Given the description of an element on the screen output the (x, y) to click on. 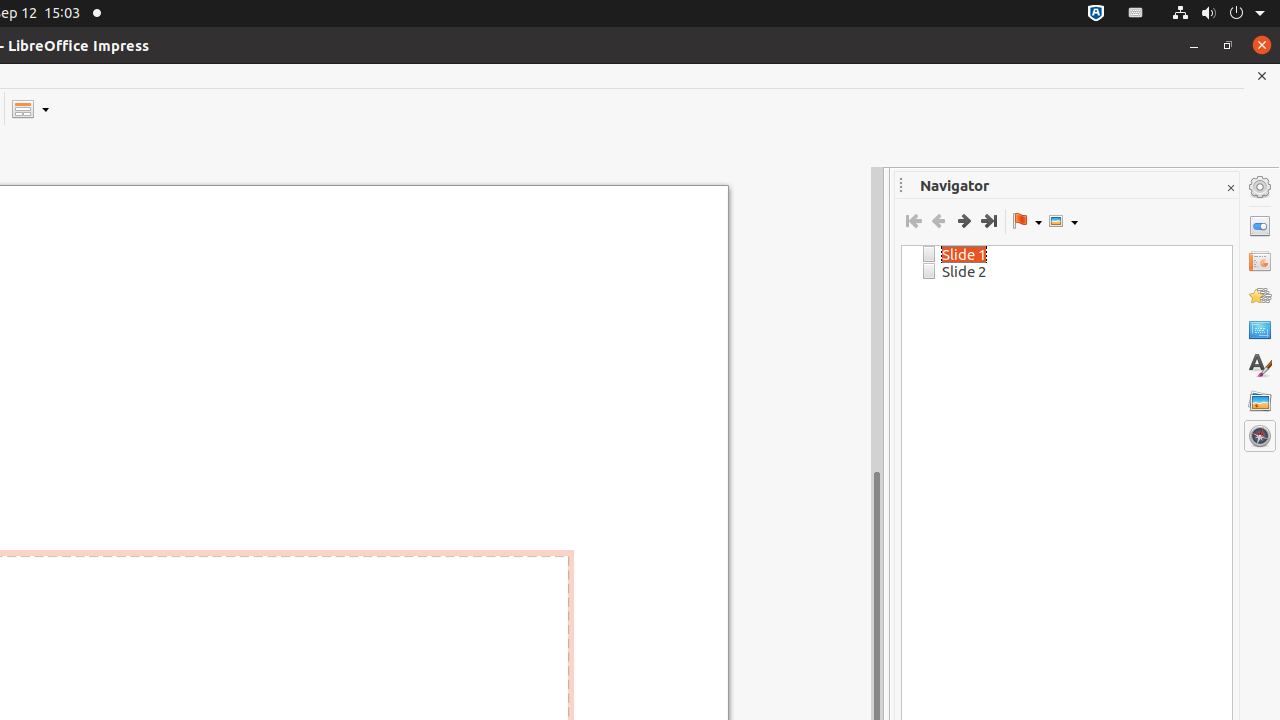
Slide Transition Element type: radio-button (1260, 261)
Styles Element type: radio-button (1260, 366)
Navigator Element type: radio-button (1260, 436)
Master Slides Element type: radio-button (1260, 331)
Next Slide Element type: push-button (963, 221)
